Given the description of an element on the screen output the (x, y) to click on. 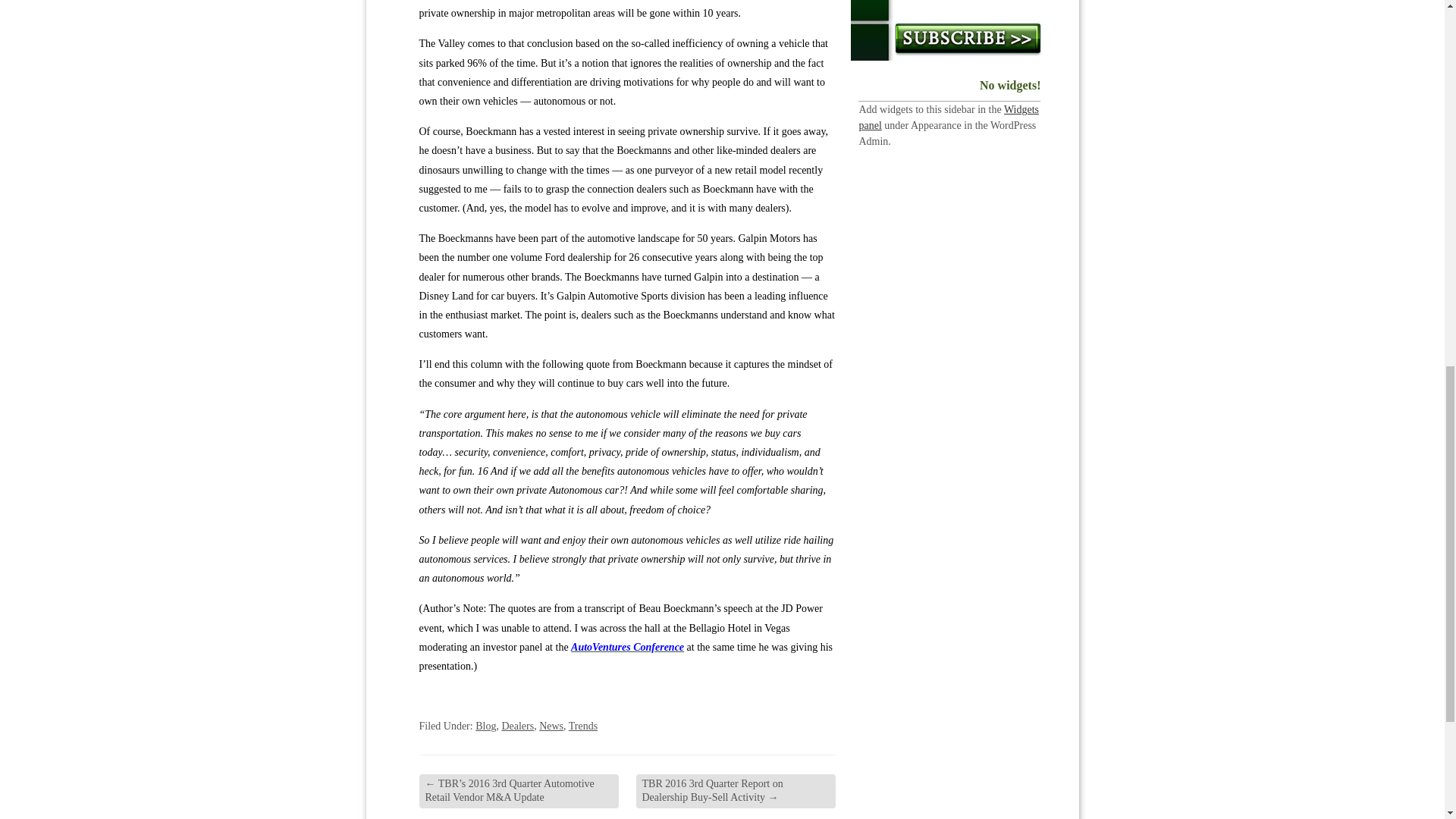
Blog (486, 726)
News (550, 726)
Widgets panel (949, 117)
Trends (582, 726)
AutoVentures Conference (627, 646)
Dealers (517, 726)
